Given the description of an element on the screen output the (x, y) to click on. 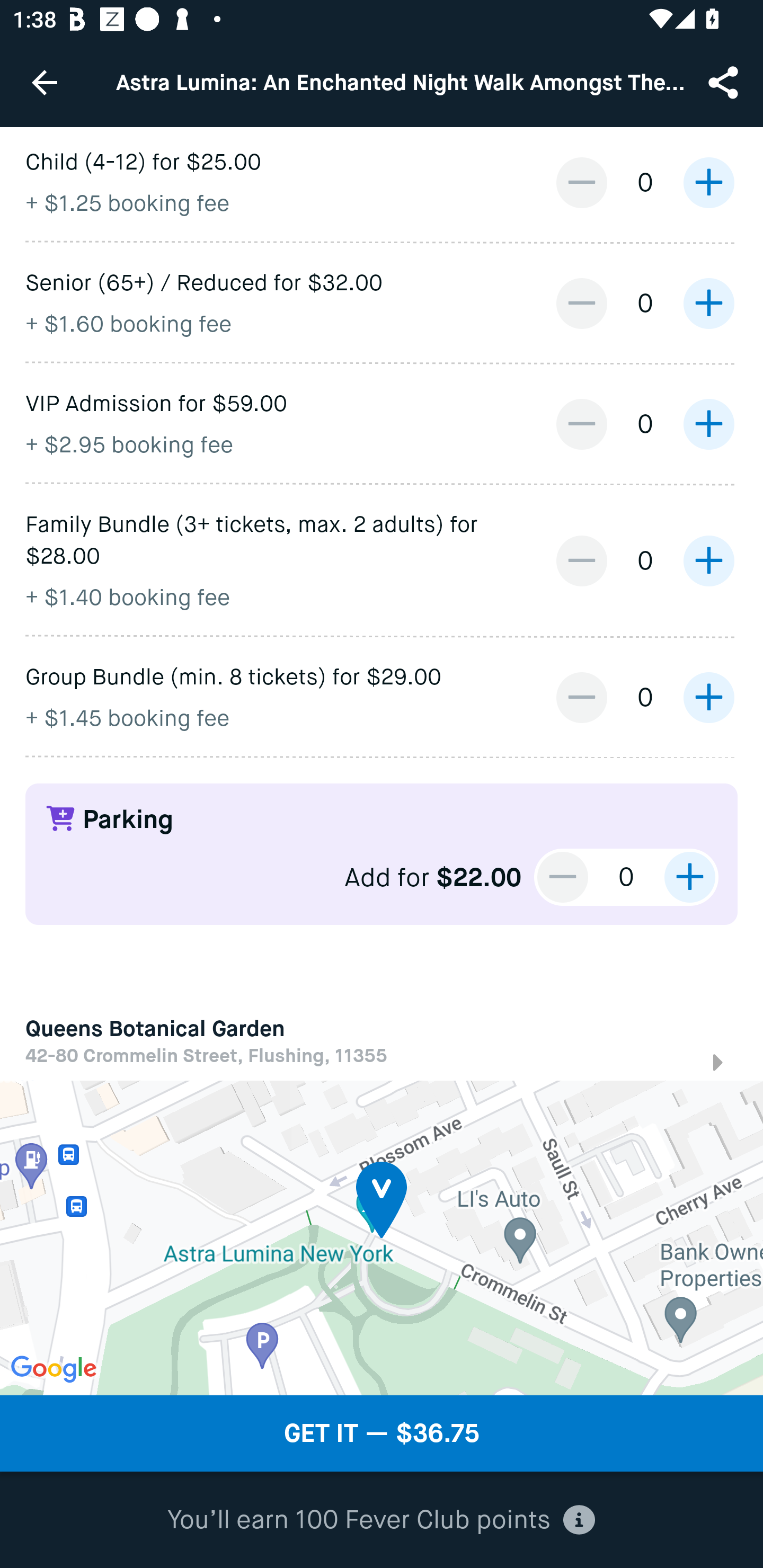
Navigate up (44, 82)
Share (724, 81)
decrease (581, 182)
increase (708, 182)
decrease (581, 302)
increase (708, 302)
decrease (581, 423)
increase (708, 423)
decrease (581, 560)
increase (708, 560)
decrease (581, 697)
increase (708, 697)
decrease (562, 876)
increase (689, 876)
Google Map Map Marker (381, 1237)
GET IT — $36.75 (381, 1433)
You’ll earn 100 Fever Club points (381, 1519)
